Given the description of an element on the screen output the (x, y) to click on. 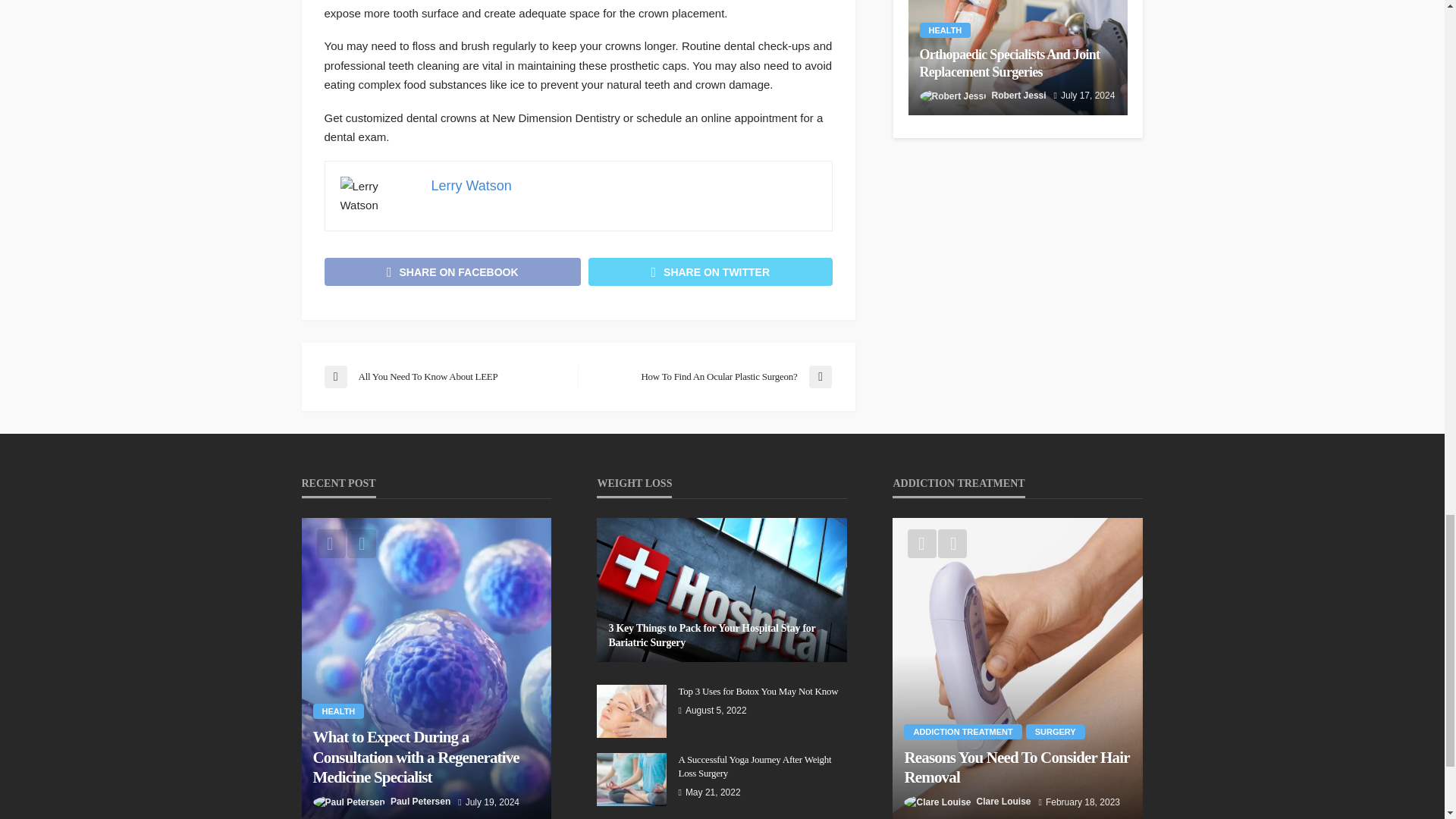
How To Find An Ocular Plastic Surgeon? (711, 376)
All You Need To Know About LEEP (443, 376)
